Given the description of an element on the screen output the (x, y) to click on. 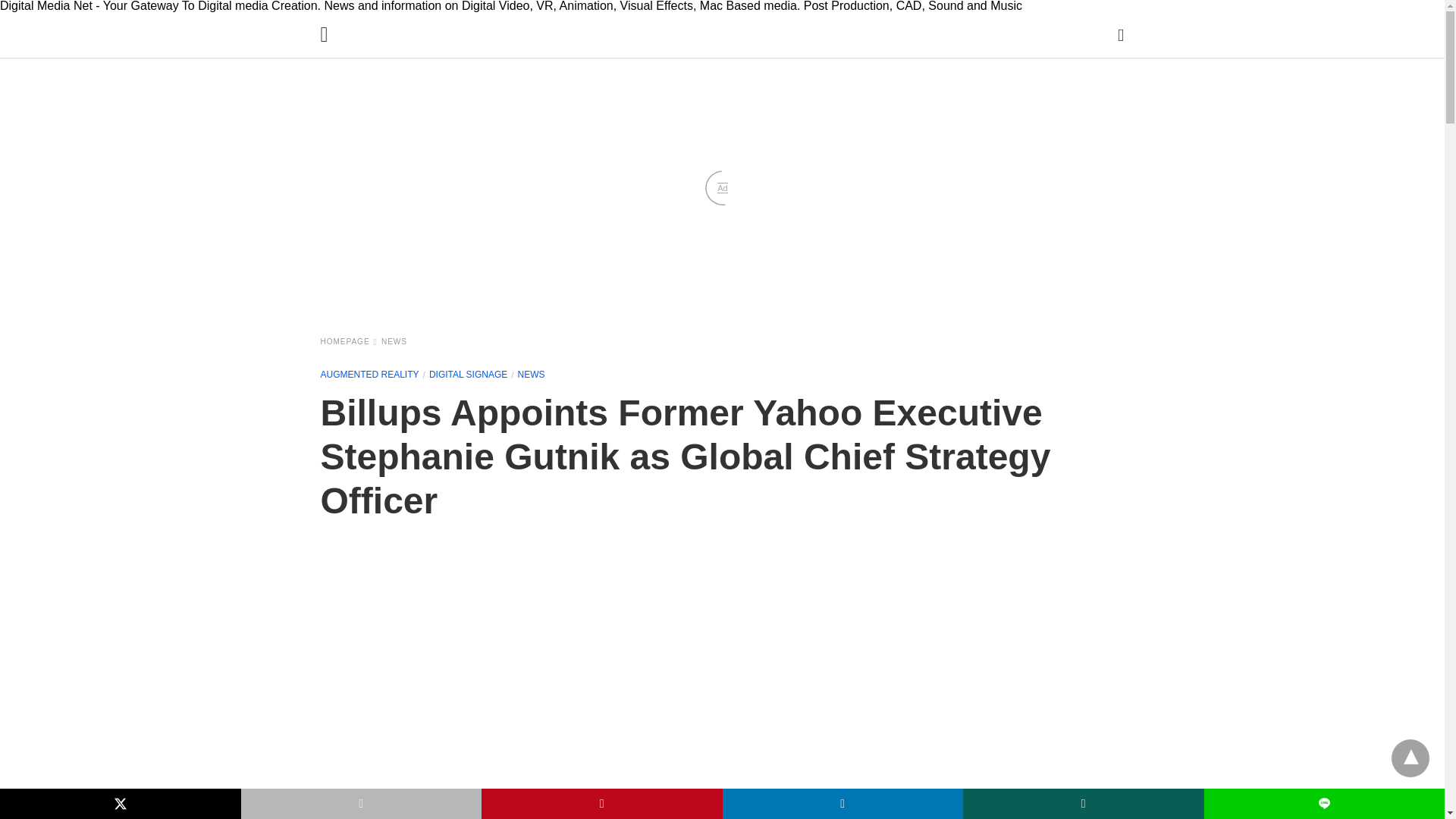
Digital Signage (467, 374)
AUGMENTED REALITY (369, 374)
NEWS (394, 341)
News (394, 341)
Homepage (348, 341)
DIGITAL SIGNAGE (467, 374)
NEWS (531, 374)
Digital Media Net (725, 54)
Augmented Reality (369, 374)
HOMEPAGE (348, 341)
News (531, 374)
